Given the description of an element on the screen output the (x, y) to click on. 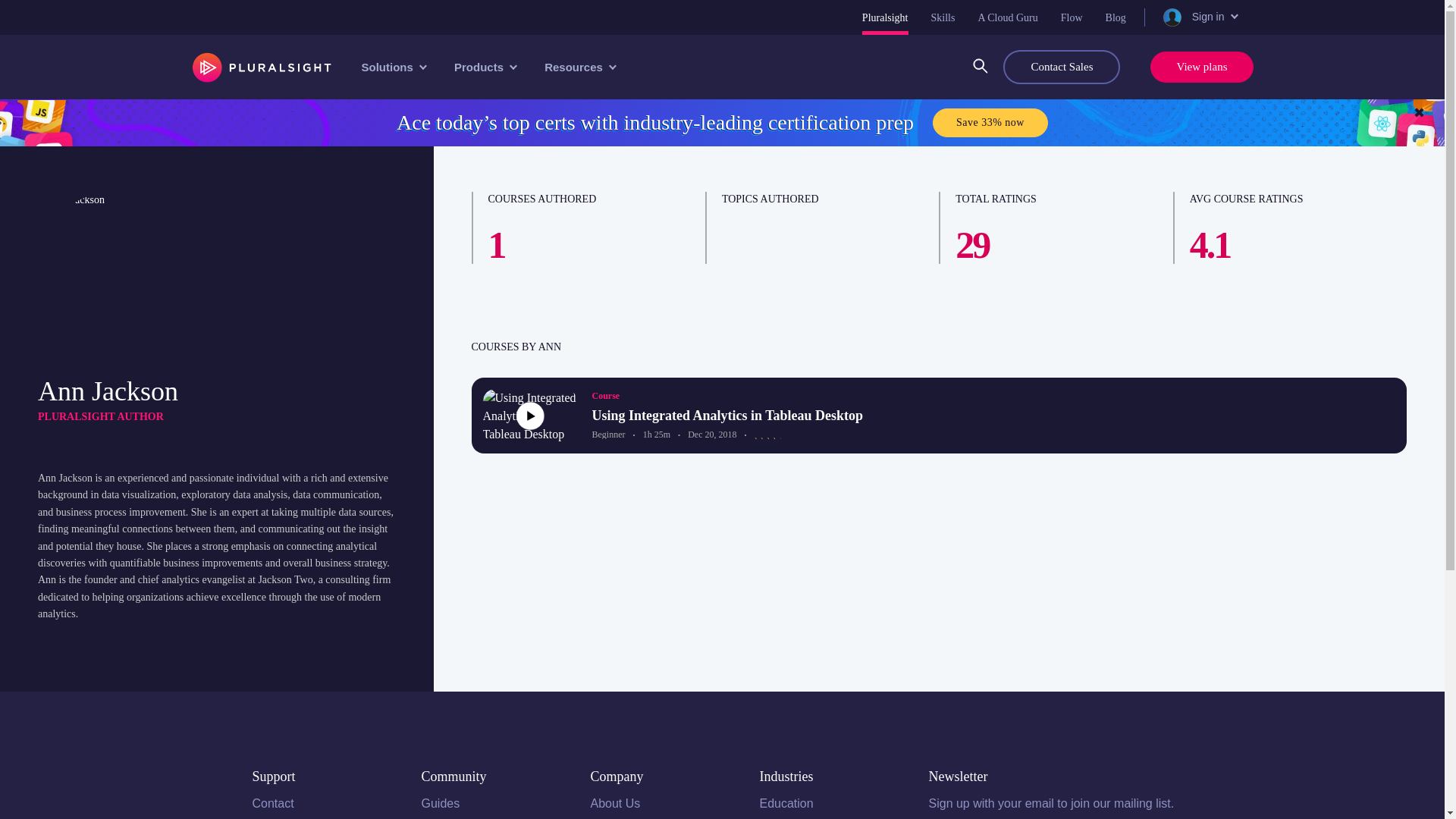
Pluralsight (884, 16)
Skills (943, 16)
Products (483, 66)
A Cloud Guru (1006, 16)
Flow (1072, 16)
Solutions (392, 66)
Sign in (1198, 17)
Blog (1115, 16)
